Given the description of an element on the screen output the (x, y) to click on. 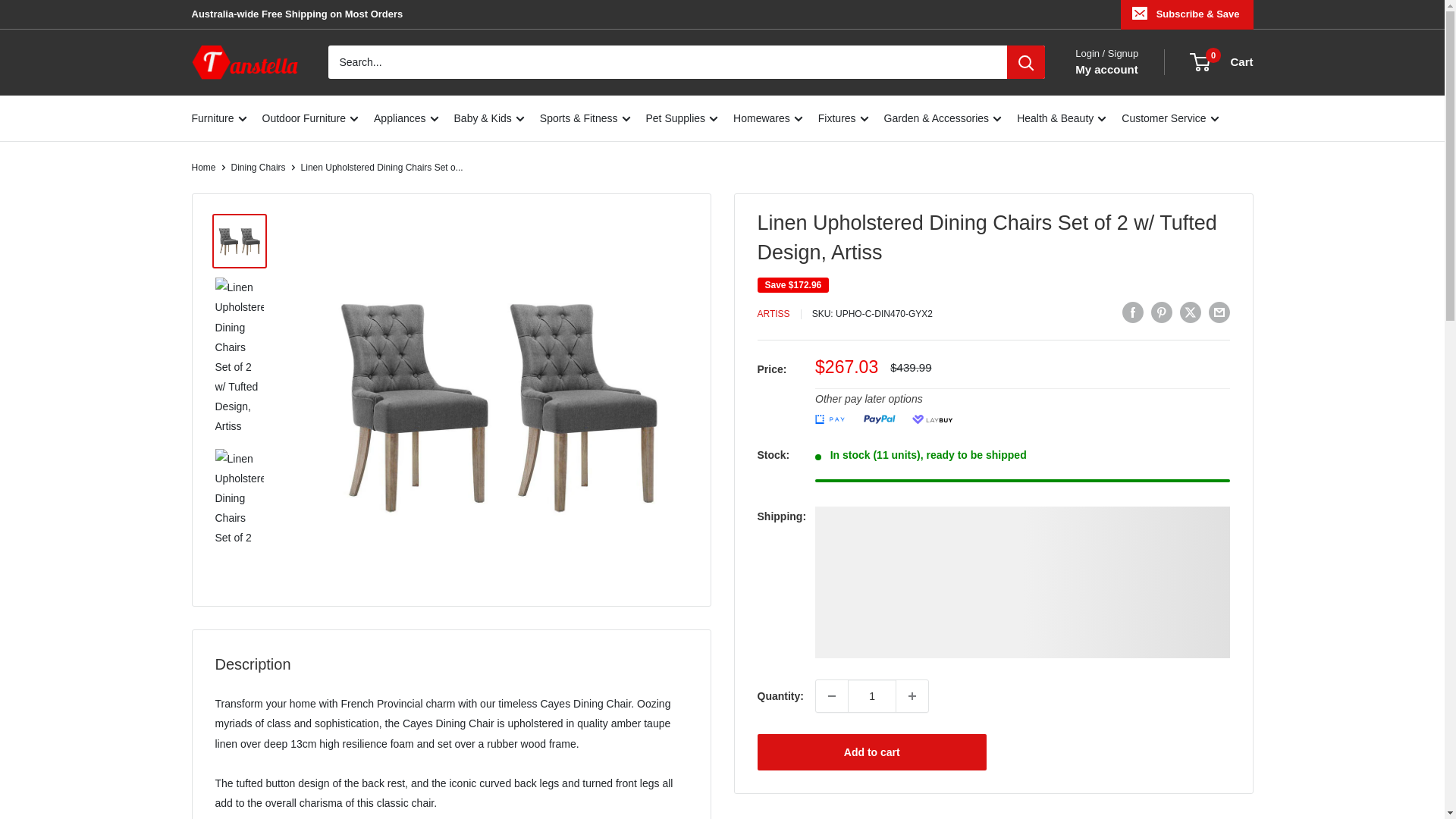
1 (871, 695)
Australia-wide Free Shipping on Most Orders (296, 14)
Increase quantity by 1 (912, 695)
Decrease quantity by 1 (831, 695)
